Given the description of an element on the screen output the (x, y) to click on. 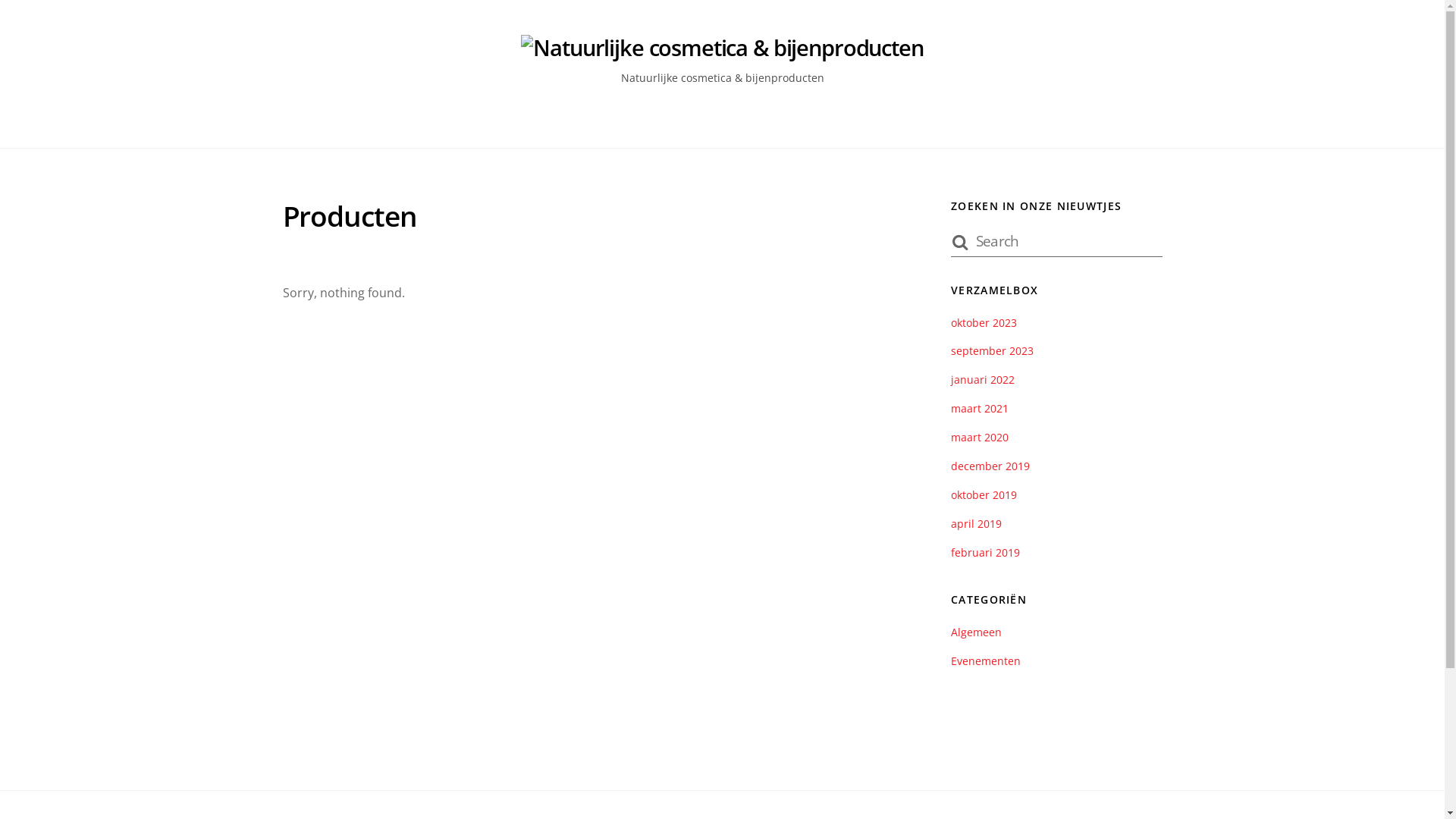
oktober 2019 Element type: text (983, 494)
Algemeen Element type: text (975, 631)
januari 2022 Element type: text (982, 379)
oktober 2023 Element type: text (983, 322)
Search Element type: hover (1055, 240)
maart 2020 Element type: text (979, 436)
Natuurlijke cosmetica & bijenproducten Element type: hover (721, 47)
Evenementen Element type: text (985, 660)
maart 2021 Element type: text (979, 408)
Logo BeeHealth Element type: hover (721, 47)
februari 2019 Element type: text (984, 552)
december 2019 Element type: text (989, 465)
september 2023 Element type: text (991, 350)
april 2019 Element type: text (975, 523)
